Given the description of an element on the screen output the (x, y) to click on. 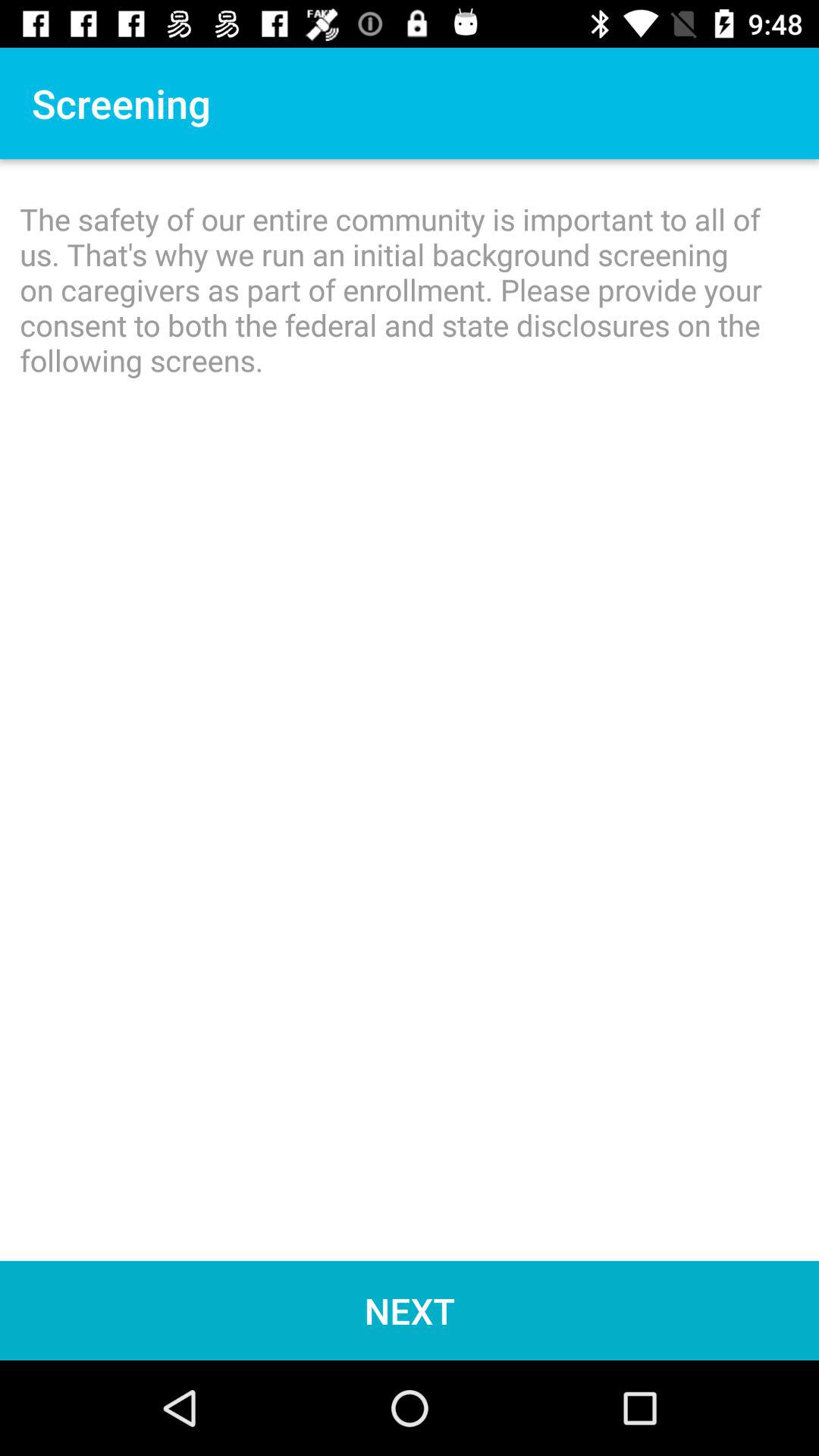
tap item below the safety of icon (409, 1310)
